Given the description of an element on the screen output the (x, y) to click on. 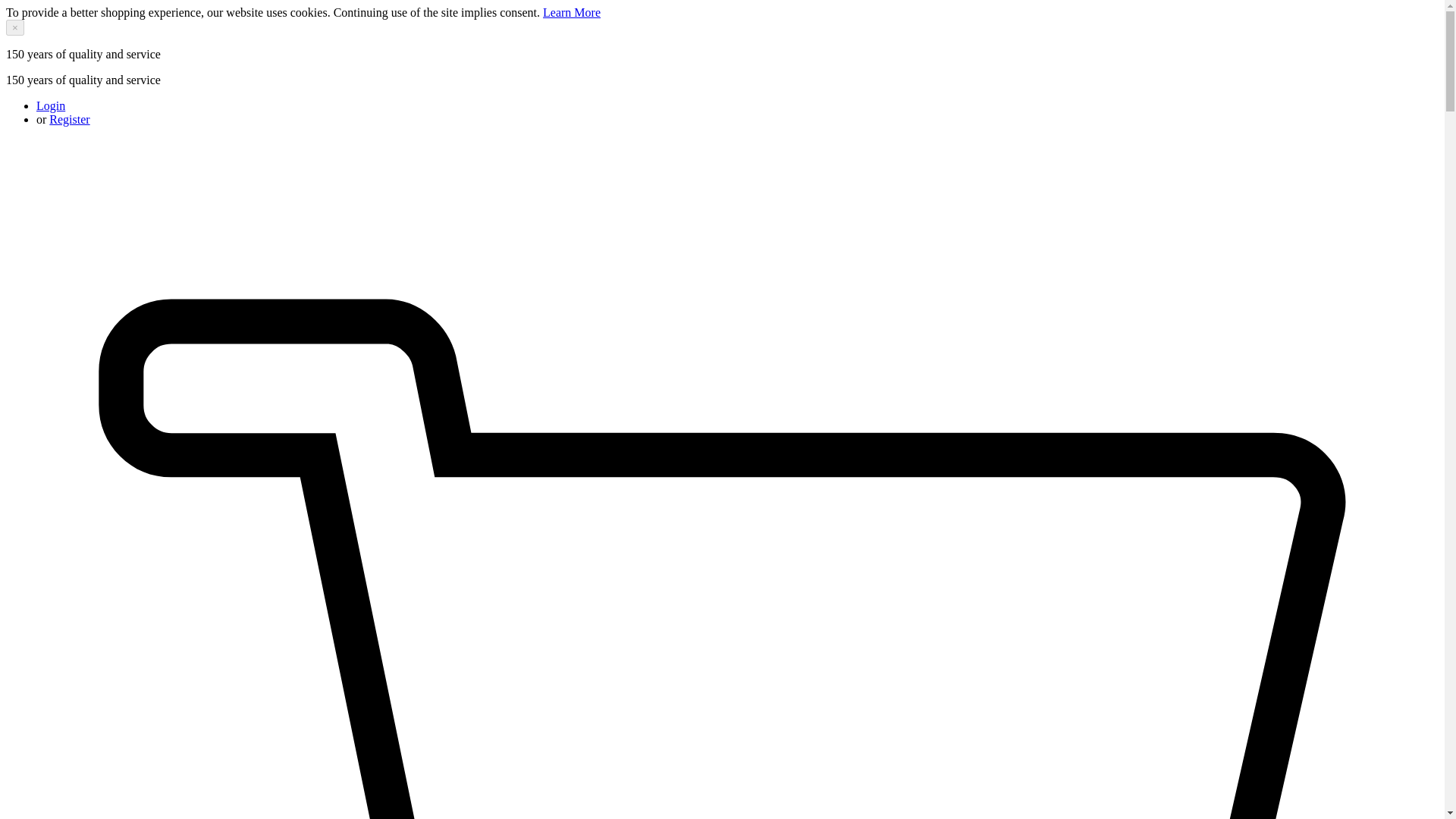
Login (50, 105)
Register (68, 119)
Learn More (571, 11)
